Given the description of an element on the screen output the (x, y) to click on. 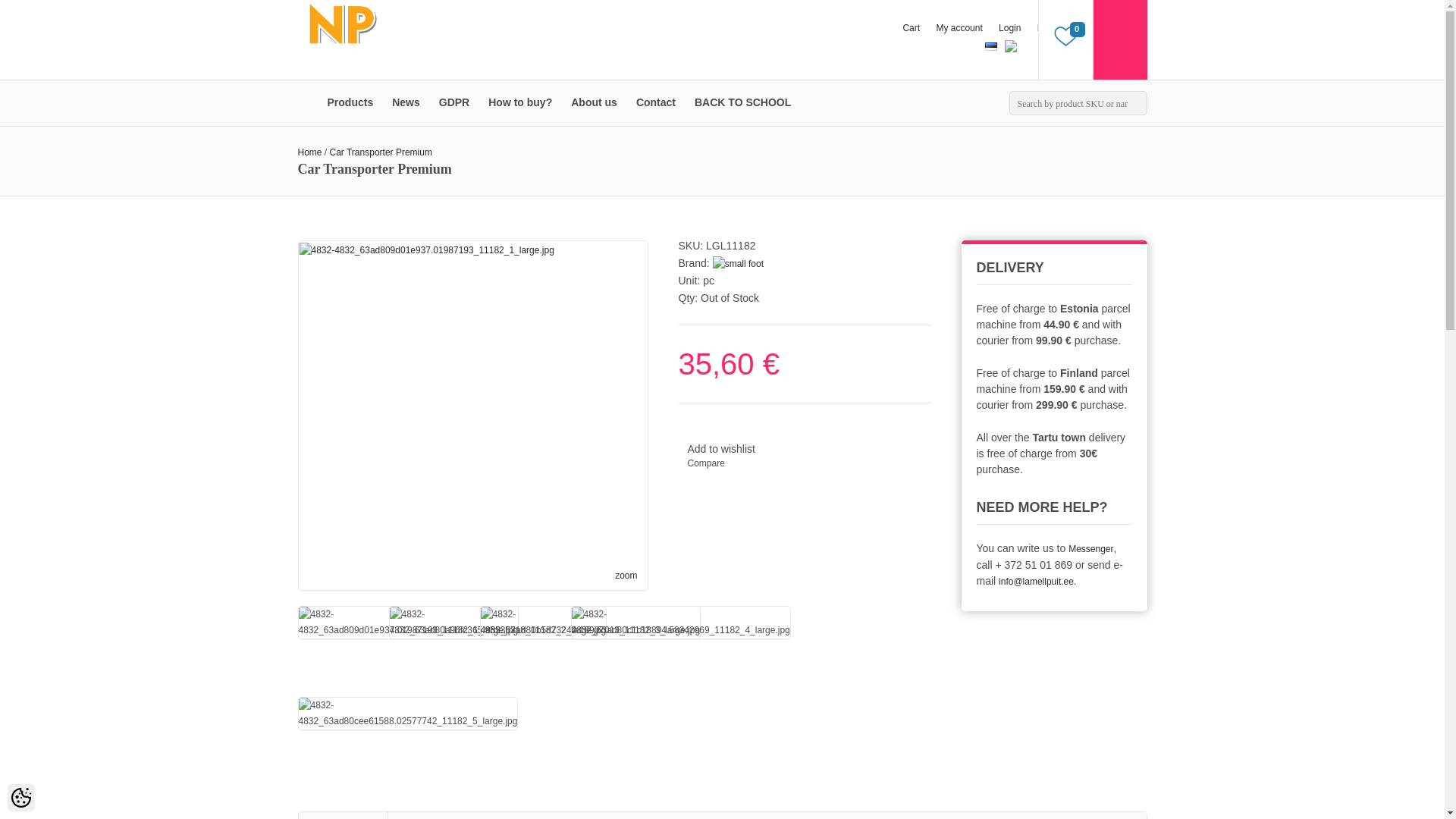
BACK TO SCHOOL (742, 103)
Contact (655, 103)
How to buy? (520, 103)
Add to wishlist (720, 449)
Home (309, 152)
Products (350, 103)
Cart (911, 27)
small foot (737, 263)
About us (594, 103)
Register (1053, 27)
